Given the description of an element on the screen output the (x, y) to click on. 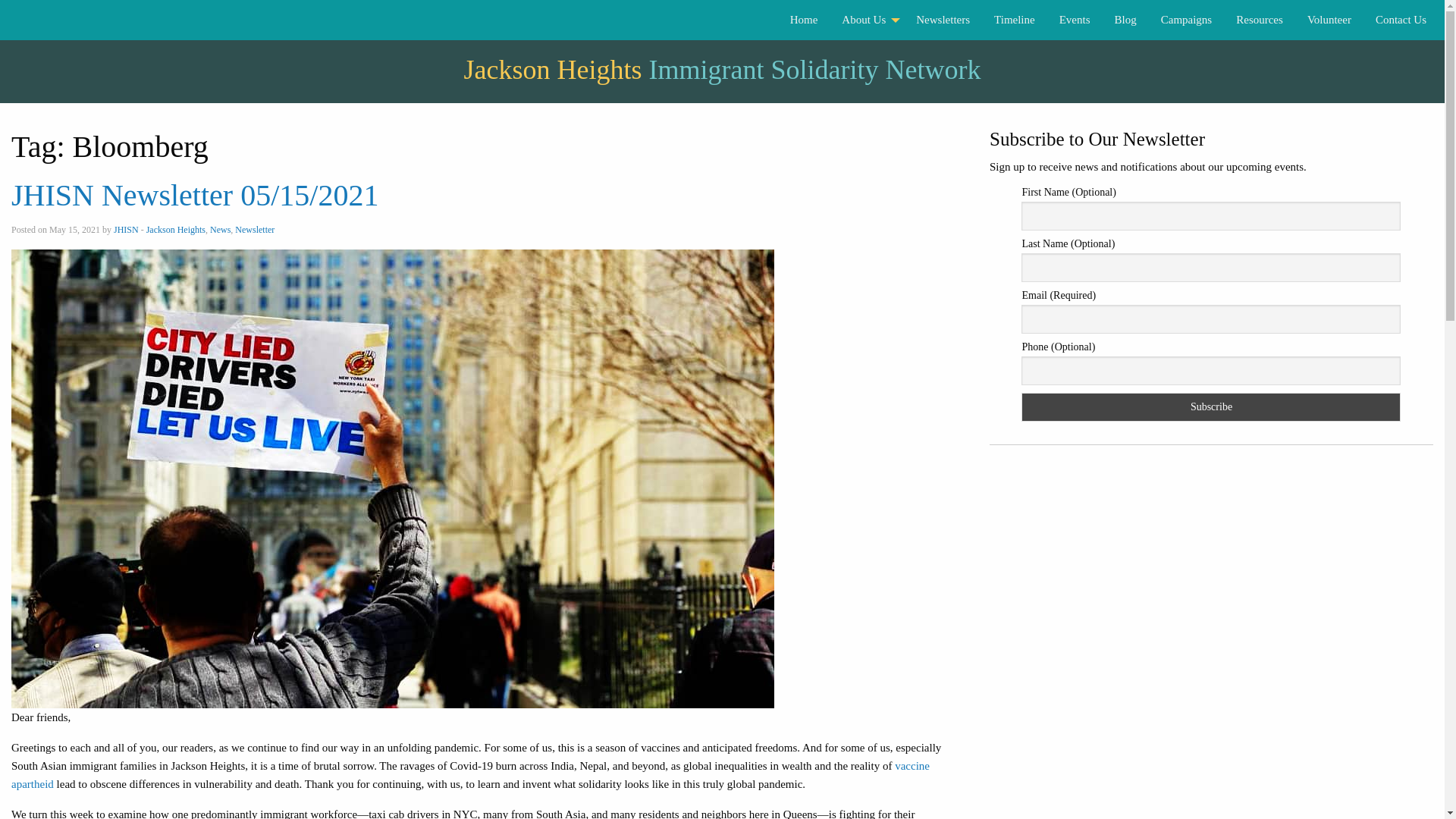
About Us (866, 19)
Newsletter (254, 229)
Campaigns (1186, 19)
Blog (1125, 19)
Newsletters (942, 19)
vaccine apartheid (470, 775)
Timeline (1013, 19)
JHISN (125, 229)
Home (803, 19)
Subscribe (1211, 407)
Volunteer (1328, 19)
Resources (1259, 19)
Events (1074, 19)
Jackson Heights (176, 229)
Posts by JHISN (125, 229)
